Given the description of an element on the screen output the (x, y) to click on. 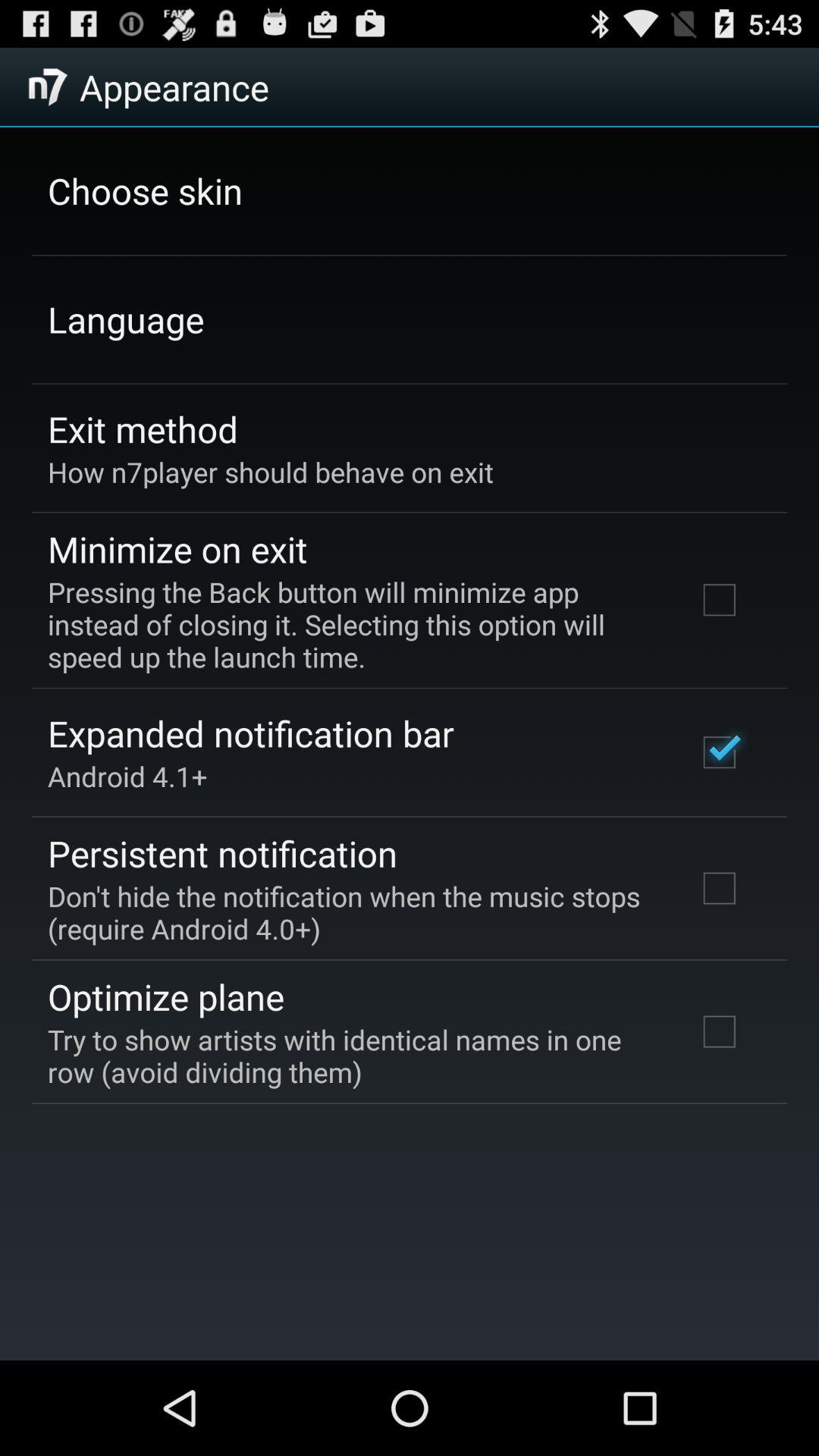
click the optimize plane (165, 996)
